Given the description of an element on the screen output the (x, y) to click on. 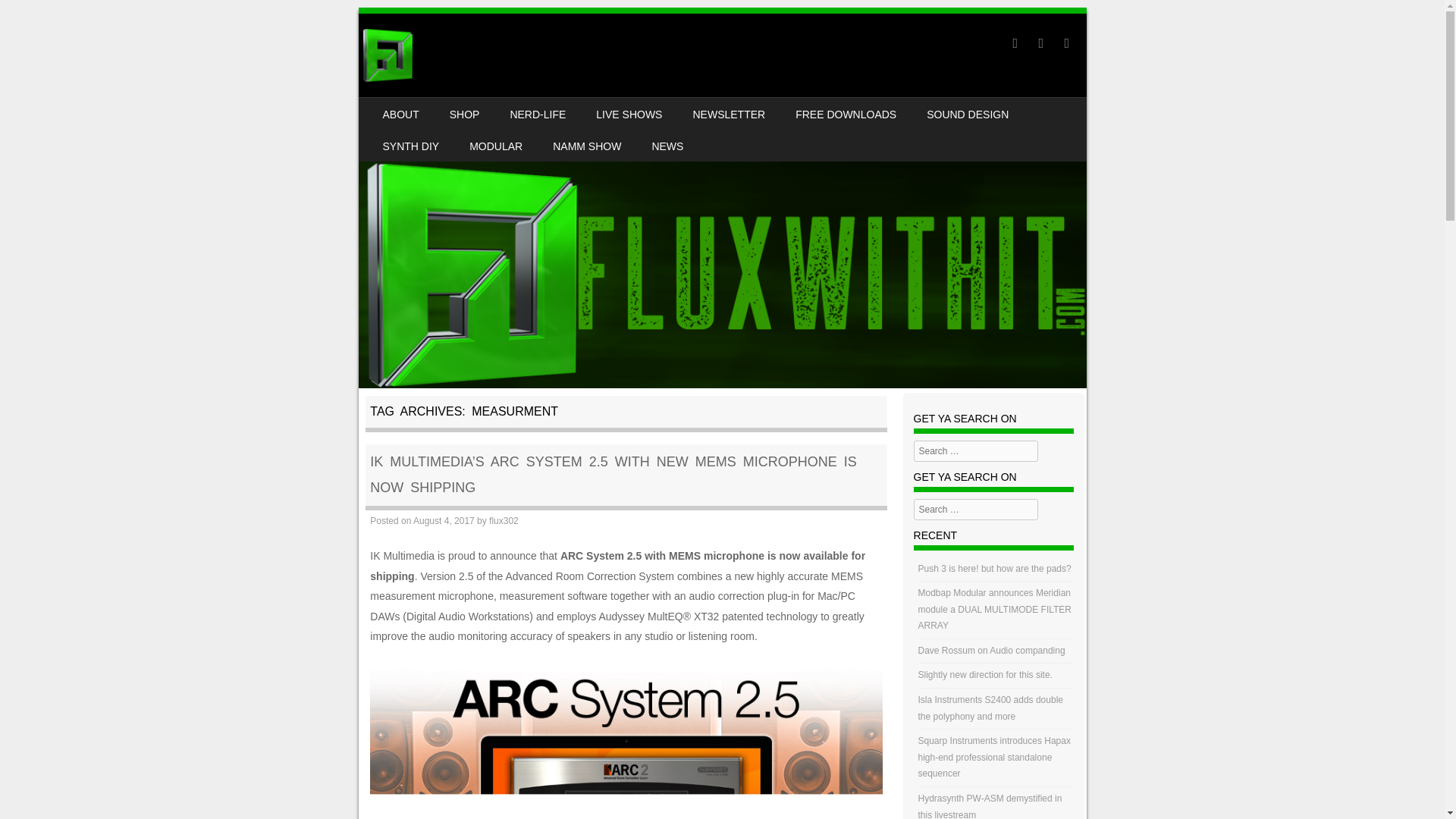
SOUND DESIGN (967, 113)
MODULAR (495, 145)
Skip to content (405, 107)
FluxWithIt.com (387, 54)
FREE DOWNLOADS (845, 113)
View all posts by flux302 (503, 520)
Search (33, 17)
SHOP (464, 113)
LIVE SHOWS (628, 113)
